Given the description of an element on the screen output the (x, y) to click on. 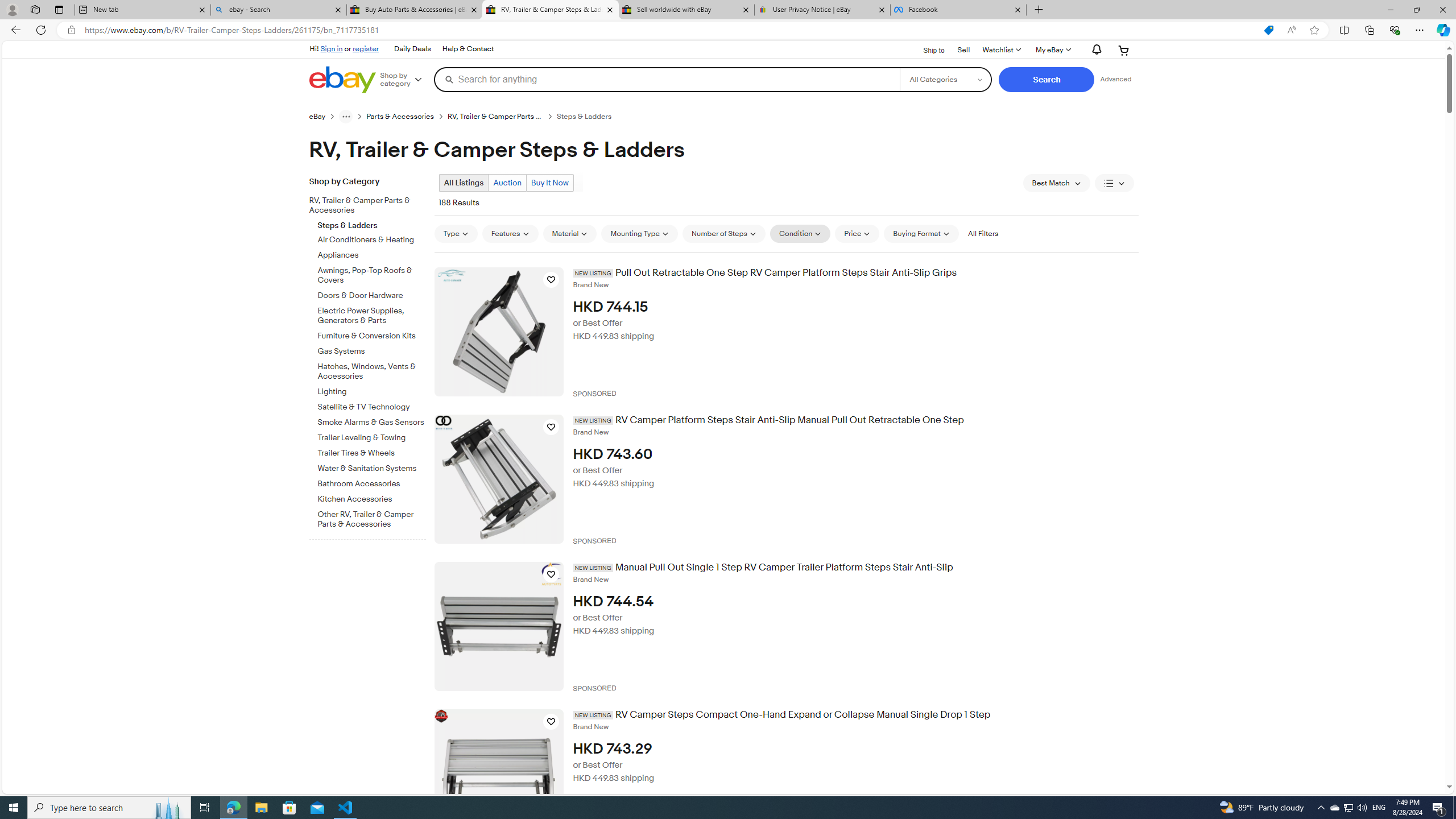
Ship to (926, 49)
Sell (963, 49)
Type (455, 233)
Price (856, 233)
Trailer Tires & Wheels (371, 452)
RV, Trailer & Camper Parts & Accessories (362, 205)
Trailer Leveling & Towing (371, 437)
Sign in (331, 48)
Price (856, 233)
Water & Sanitation Systems (371, 466)
My eBay (1052, 49)
Air Conditioners & Heating (371, 237)
Gas Systems (371, 351)
Electric Power Supplies, Generators & Parts (371, 313)
